Given the description of an element on the screen output the (x, y) to click on. 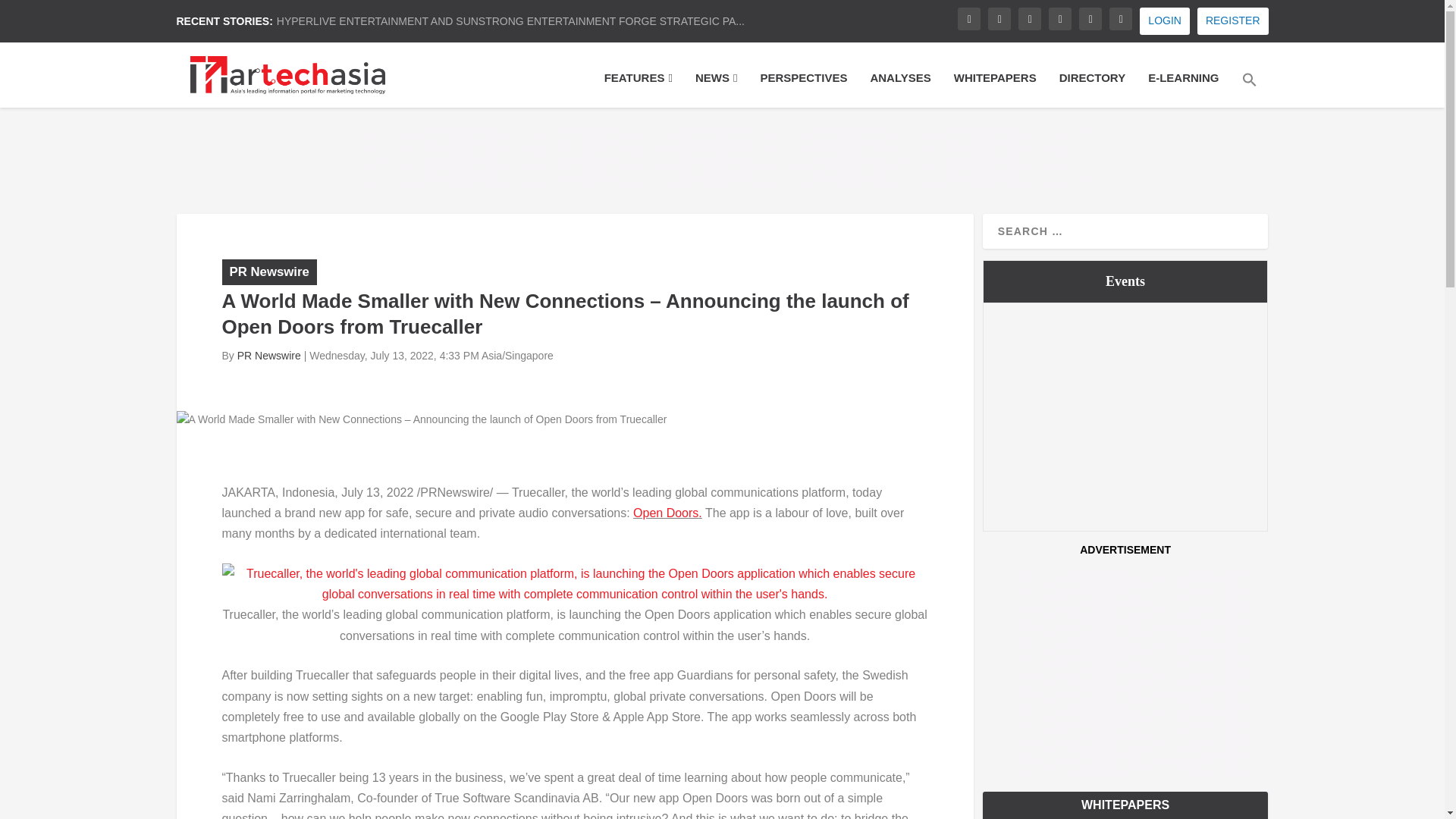
LOGIN (1164, 21)
3rd party ad content (722, 157)
PERSPECTIVES (803, 87)
Posts by PR Newswire (269, 355)
NEWS (715, 87)
DIRECTORY (1092, 87)
FEATURES (638, 87)
E-LEARNING (1183, 87)
WHITEPAPERS (994, 87)
